Given the description of an element on the screen output the (x, y) to click on. 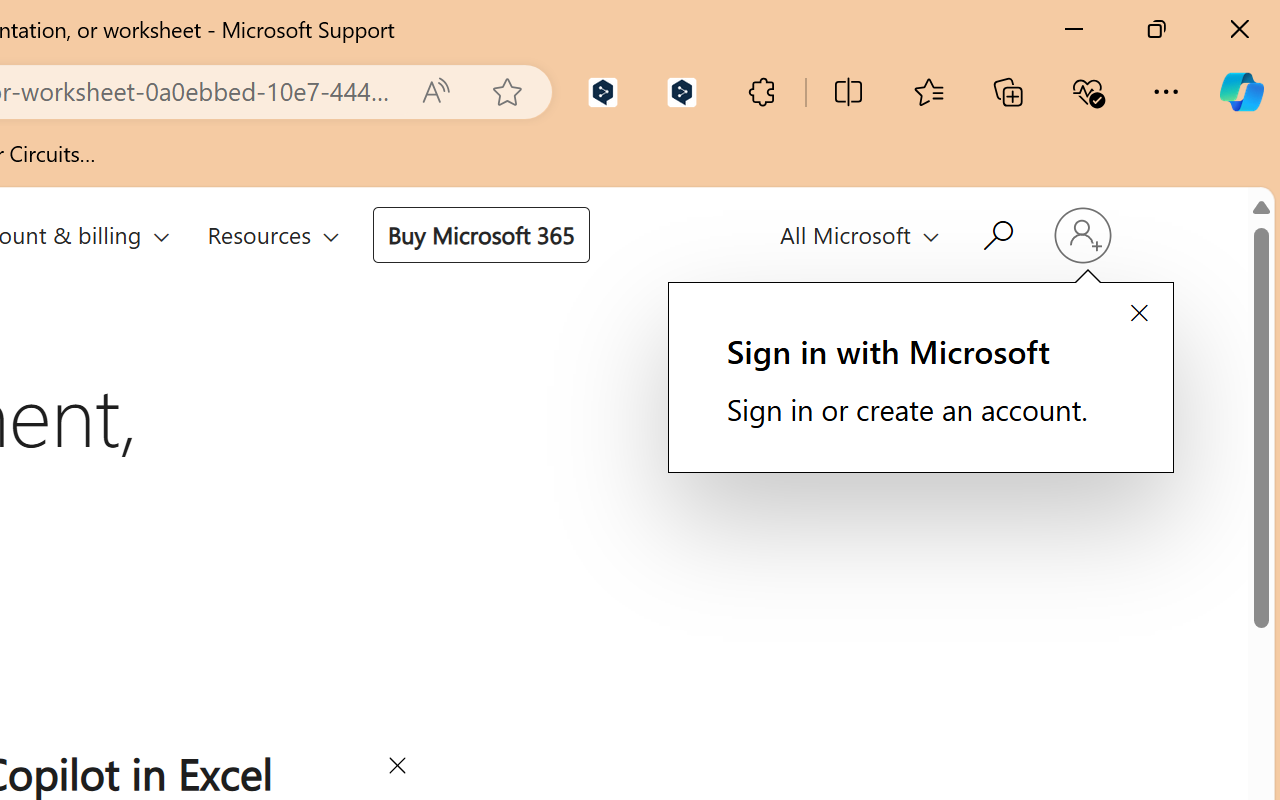
Close callout prompt. (1137, 314)
